Given the description of an element on the screen output the (x, y) to click on. 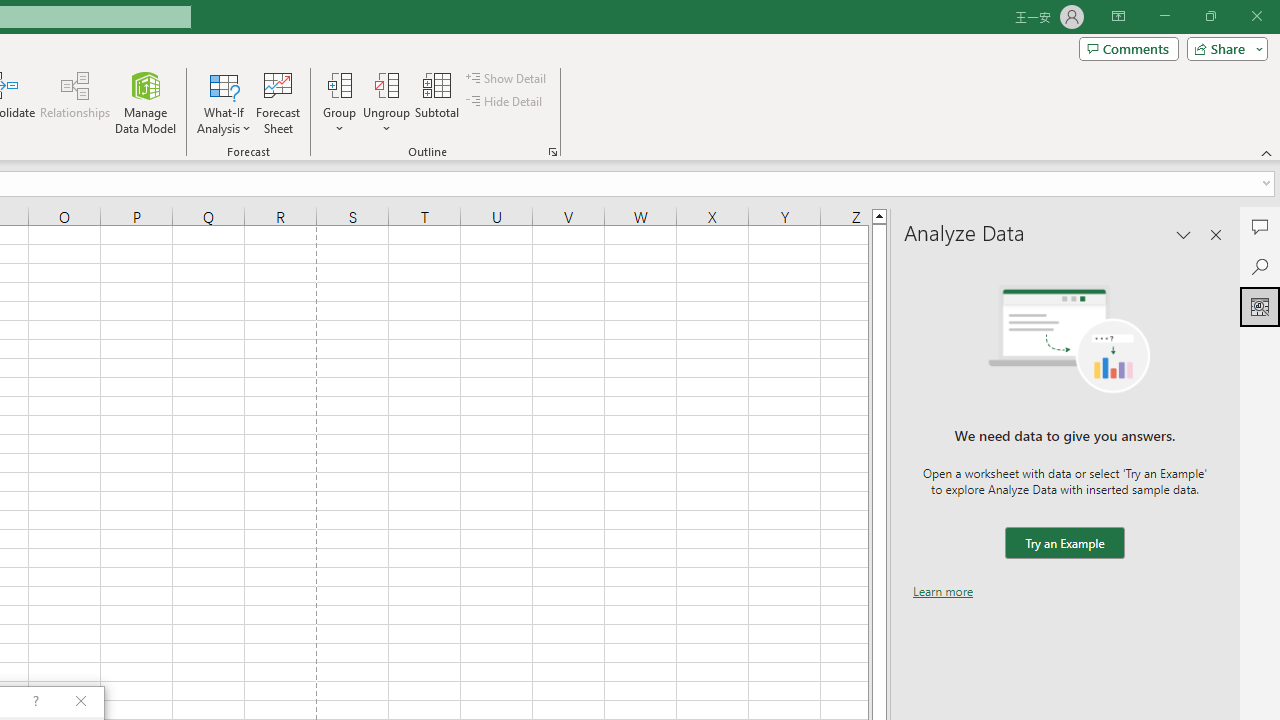
Learn more (943, 591)
Forecast Sheet (278, 102)
Group and Outline Settings (552, 151)
Search (1260, 266)
Relationships (75, 102)
